Given the description of an element on the screen output the (x, y) to click on. 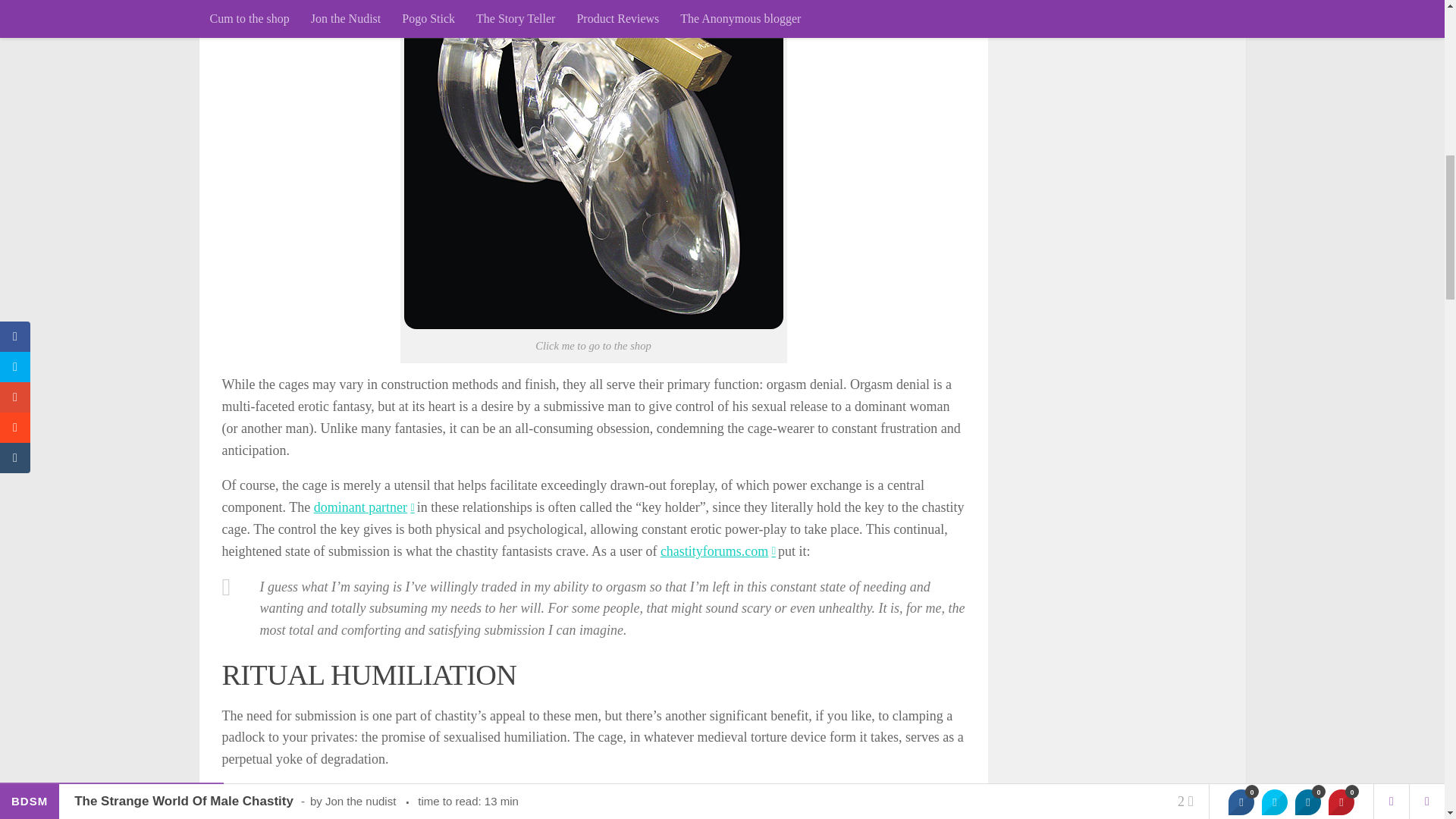
chastityforums.com (717, 550)
HOW TO BE A DOM: The beginners guide in 12 simple-ish steps. (363, 507)
